Given the description of an element on the screen output the (x, y) to click on. 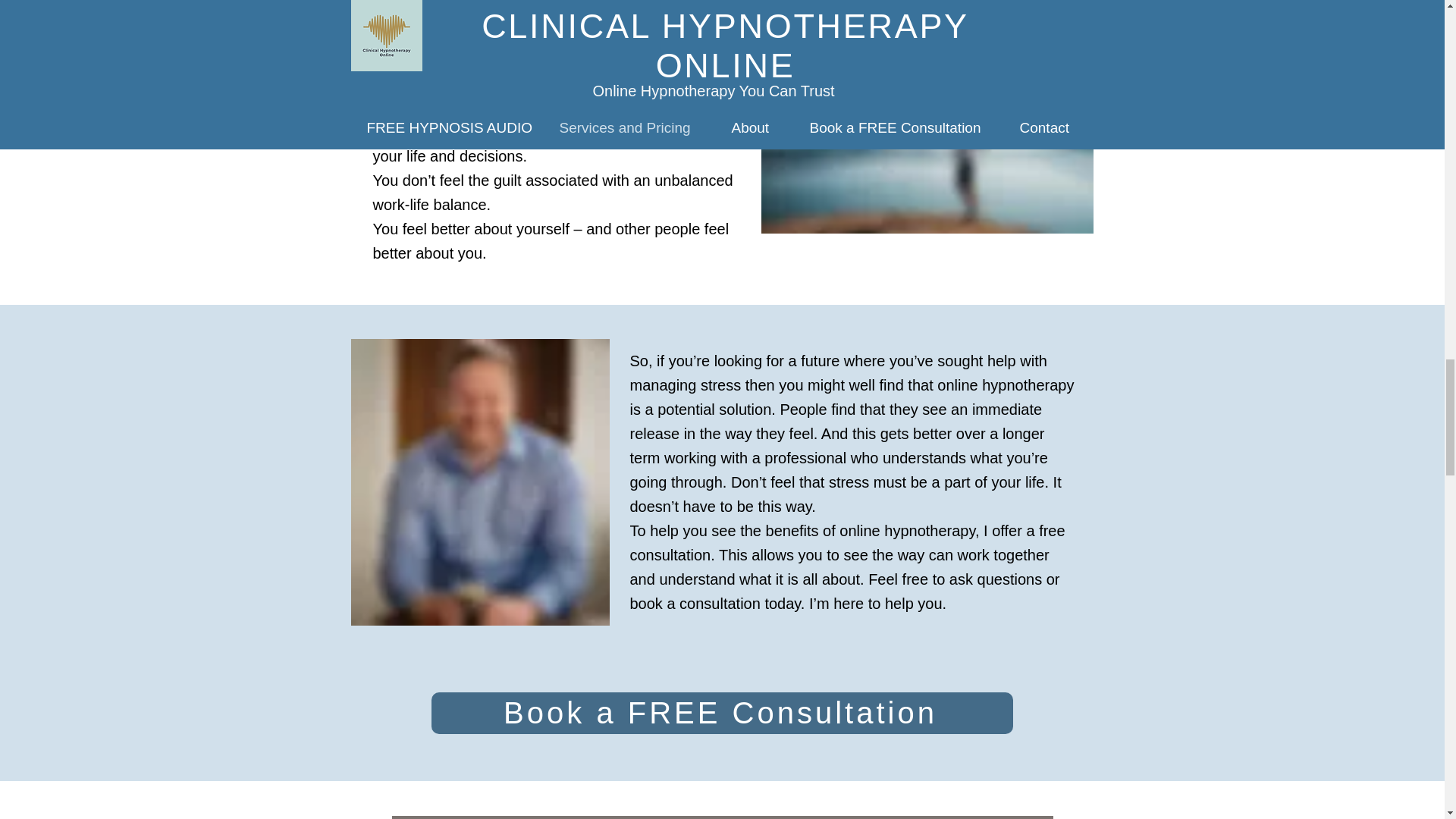
Book a FREE Consultation (720, 712)
